Given the description of an element on the screen output the (x, y) to click on. 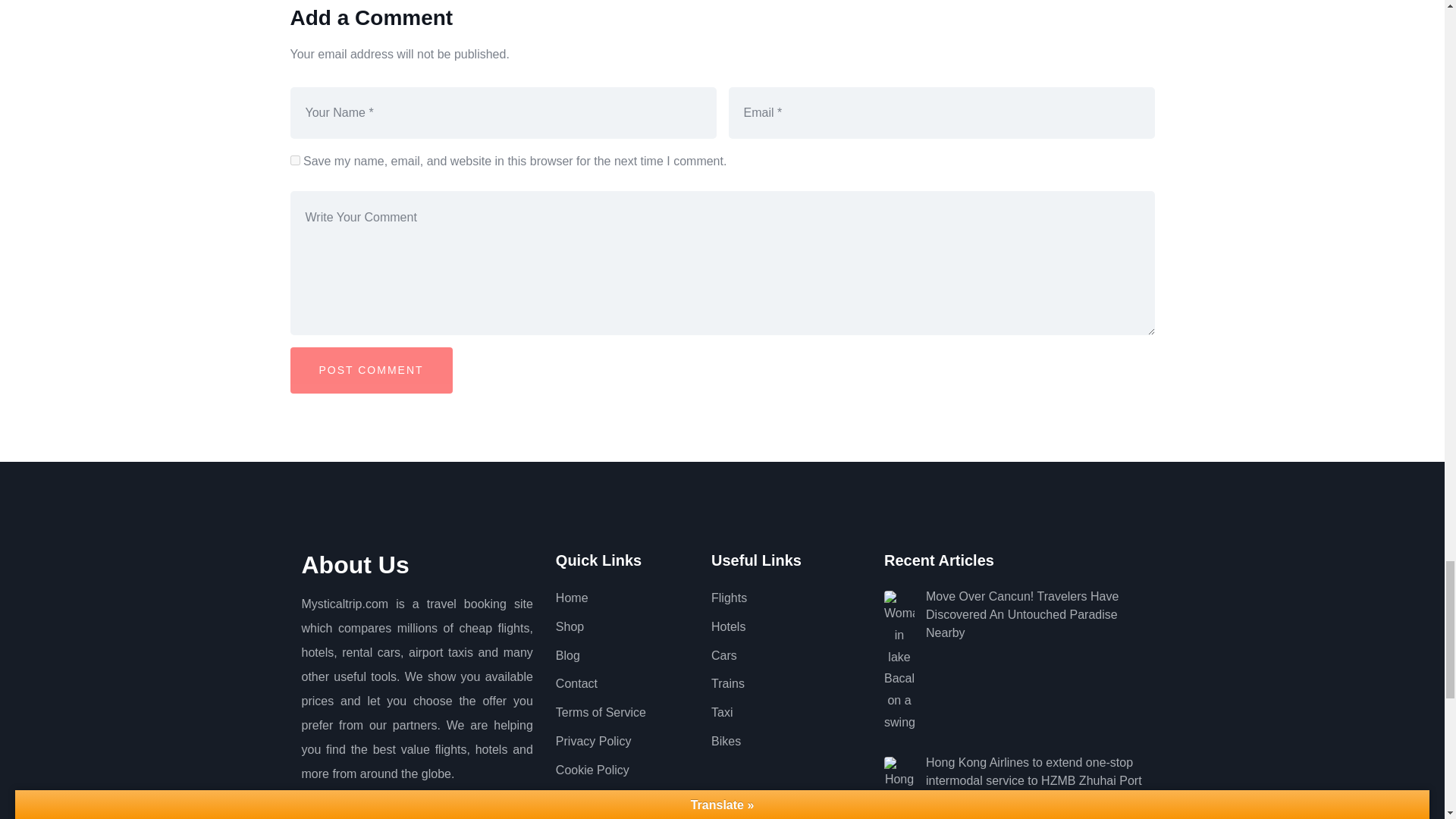
Post Comment (370, 370)
yes (294, 160)
